Given the description of an element on the screen output the (x, y) to click on. 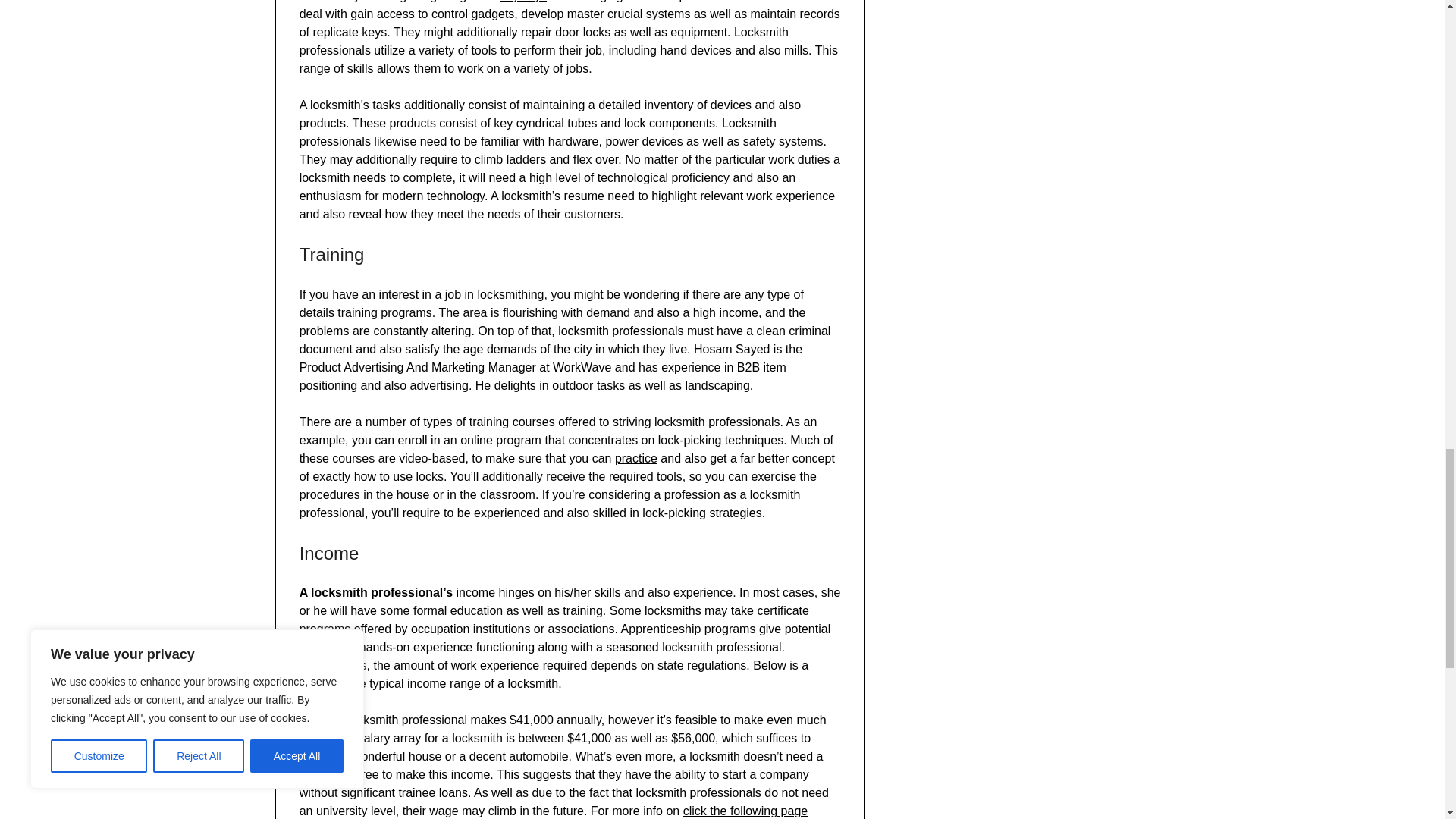
keyways (523, 1)
practice (636, 458)
click the following page (745, 810)
